Given the description of an element on the screen output the (x, y) to click on. 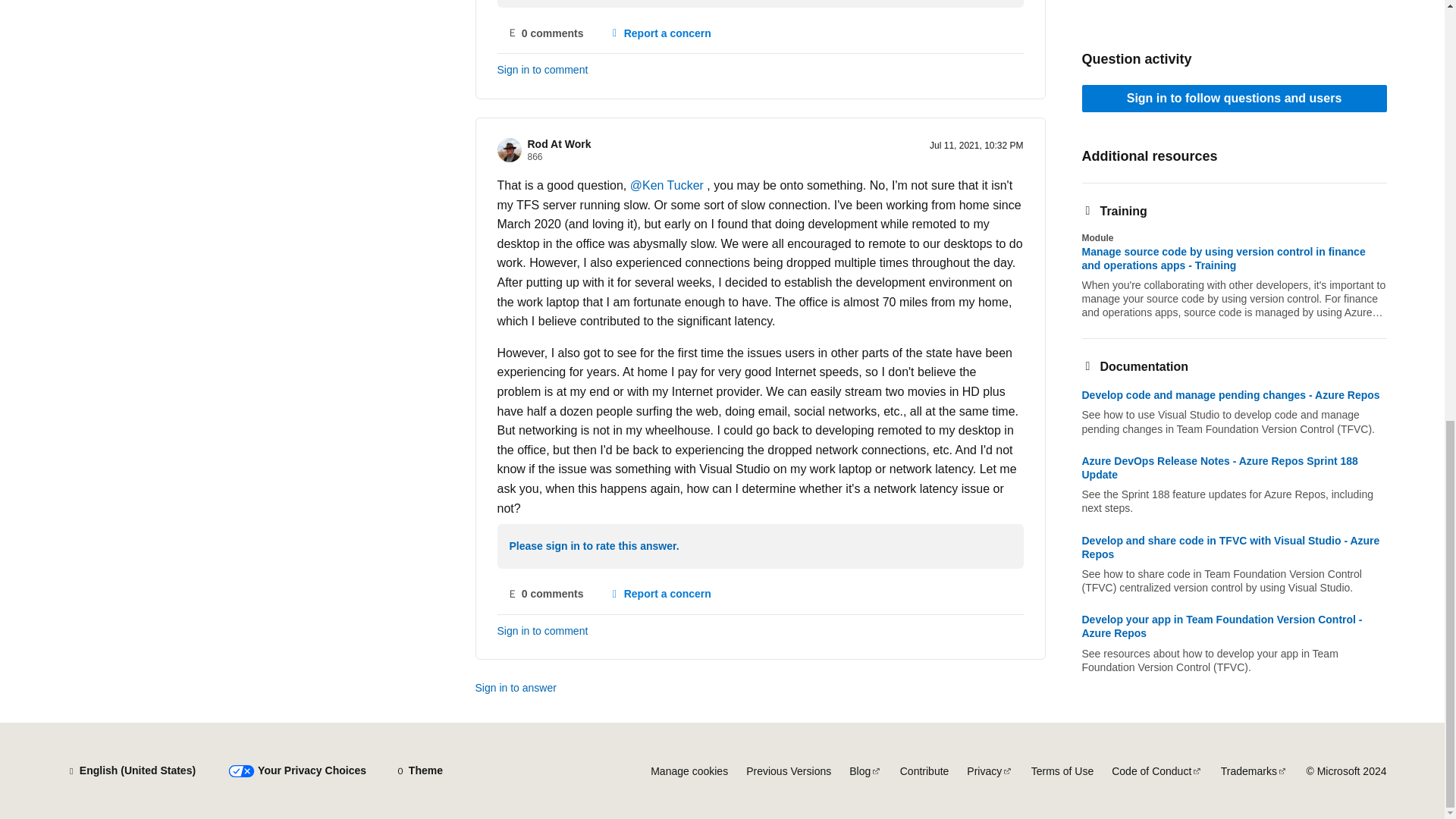
Reputation points (535, 156)
Report a concern (659, 594)
Report a concern (659, 32)
No comments (545, 594)
No comments (545, 32)
